Given the description of an element on the screen output the (x, y) to click on. 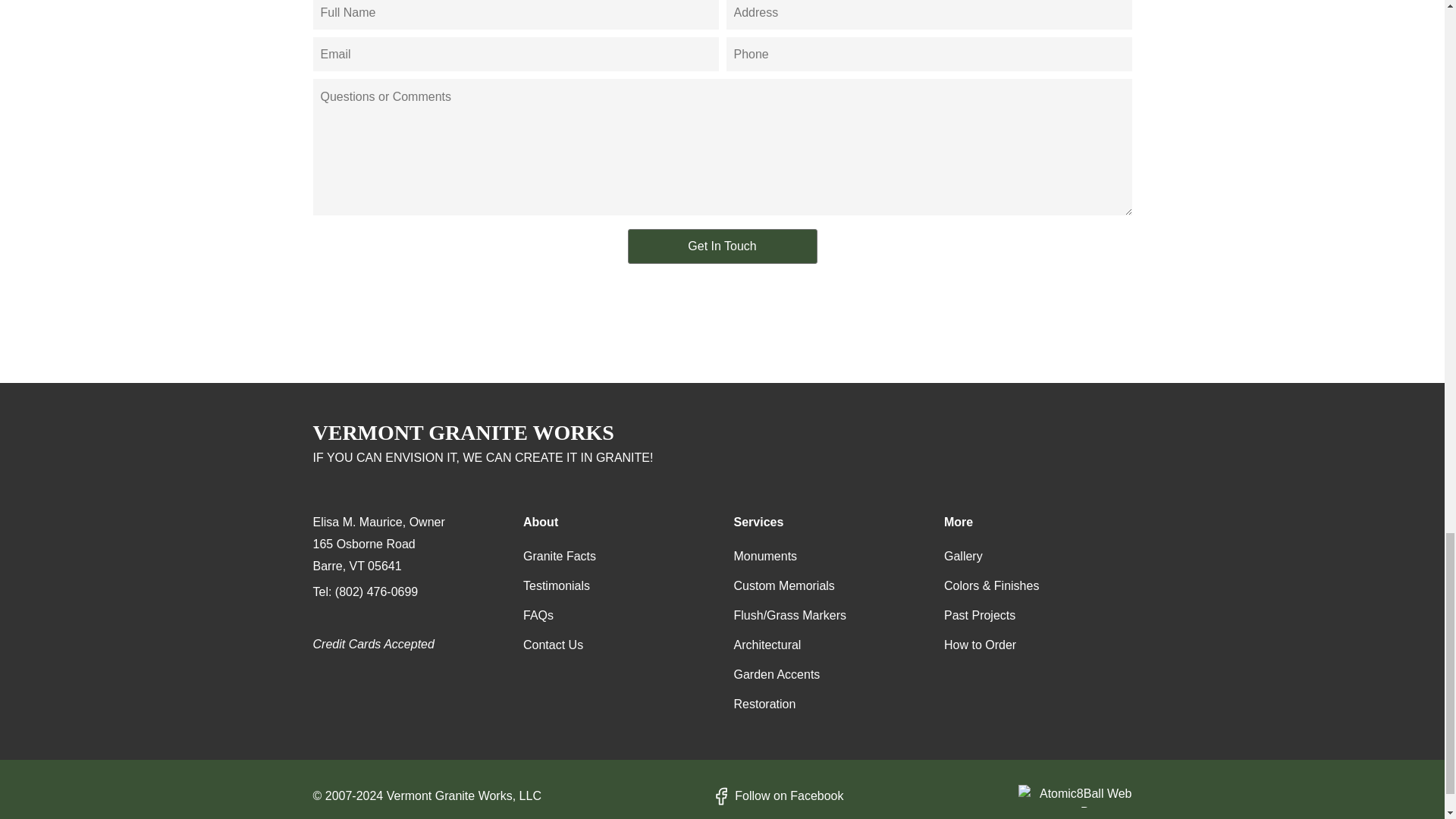
Facebook (776, 796)
Testimonials (555, 585)
FAQs (537, 615)
Contact Us (552, 645)
Monuments (765, 556)
Custom Memorials (783, 585)
Garden Accents (777, 674)
Restoration (764, 704)
Past Projects (978, 615)
Follow on Facebook (776, 796)
Architectural (767, 645)
Get In Touch (721, 246)
Get In Touch (721, 246)
Granite Facts (558, 556)
